Given the description of an element on the screen output the (x, y) to click on. 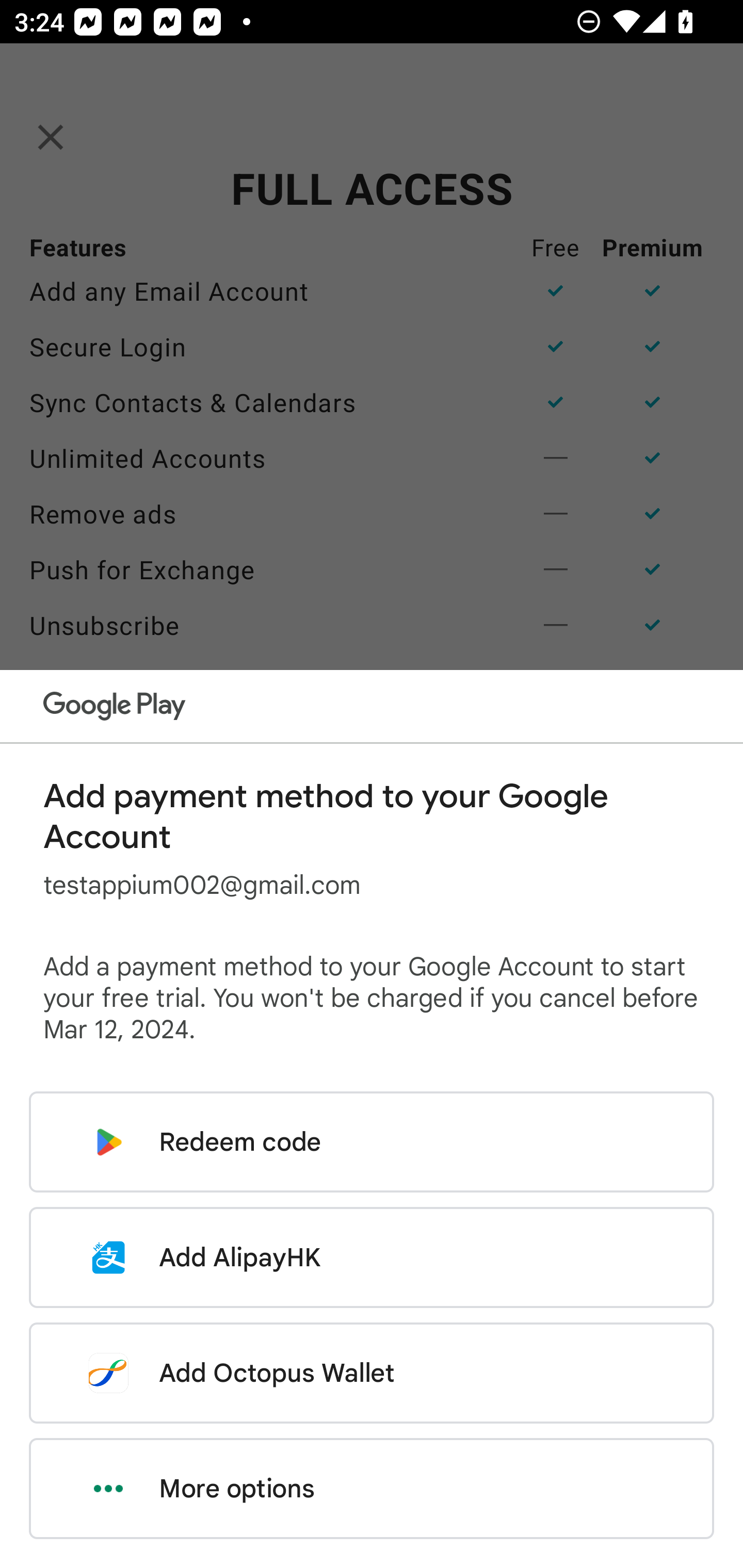
Redeem code (371, 1142)
Add AlipayHK (371, 1257)
Add Octopus Wallet (371, 1372)
More options (371, 1488)
